Given the description of an element on the screen output the (x, y) to click on. 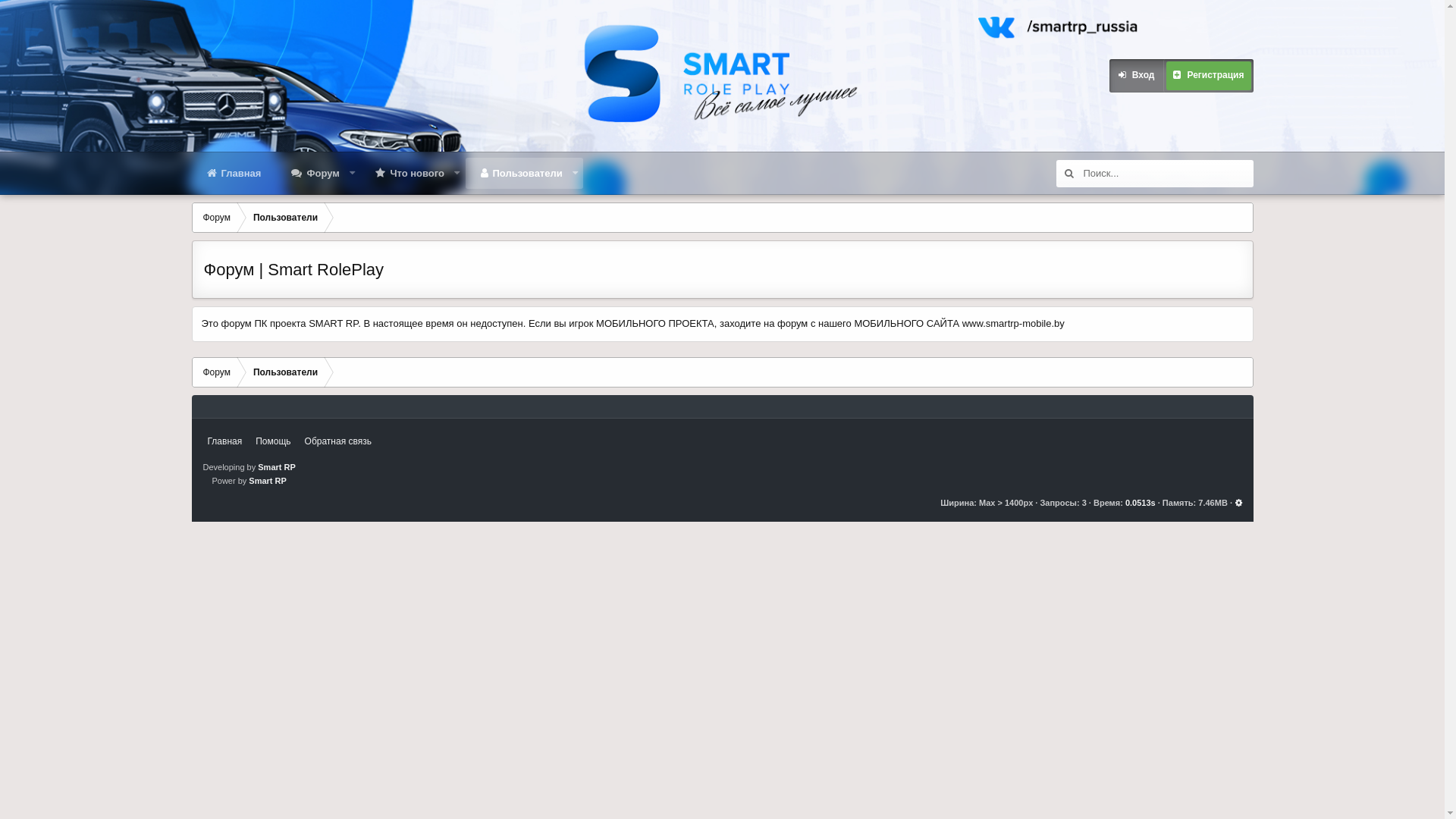
Smart RP Element type: text (276, 466)
0.0513s Element type: text (1140, 502)
Smart RP Element type: text (267, 480)
